Given the description of an element on the screen output the (x, y) to click on. 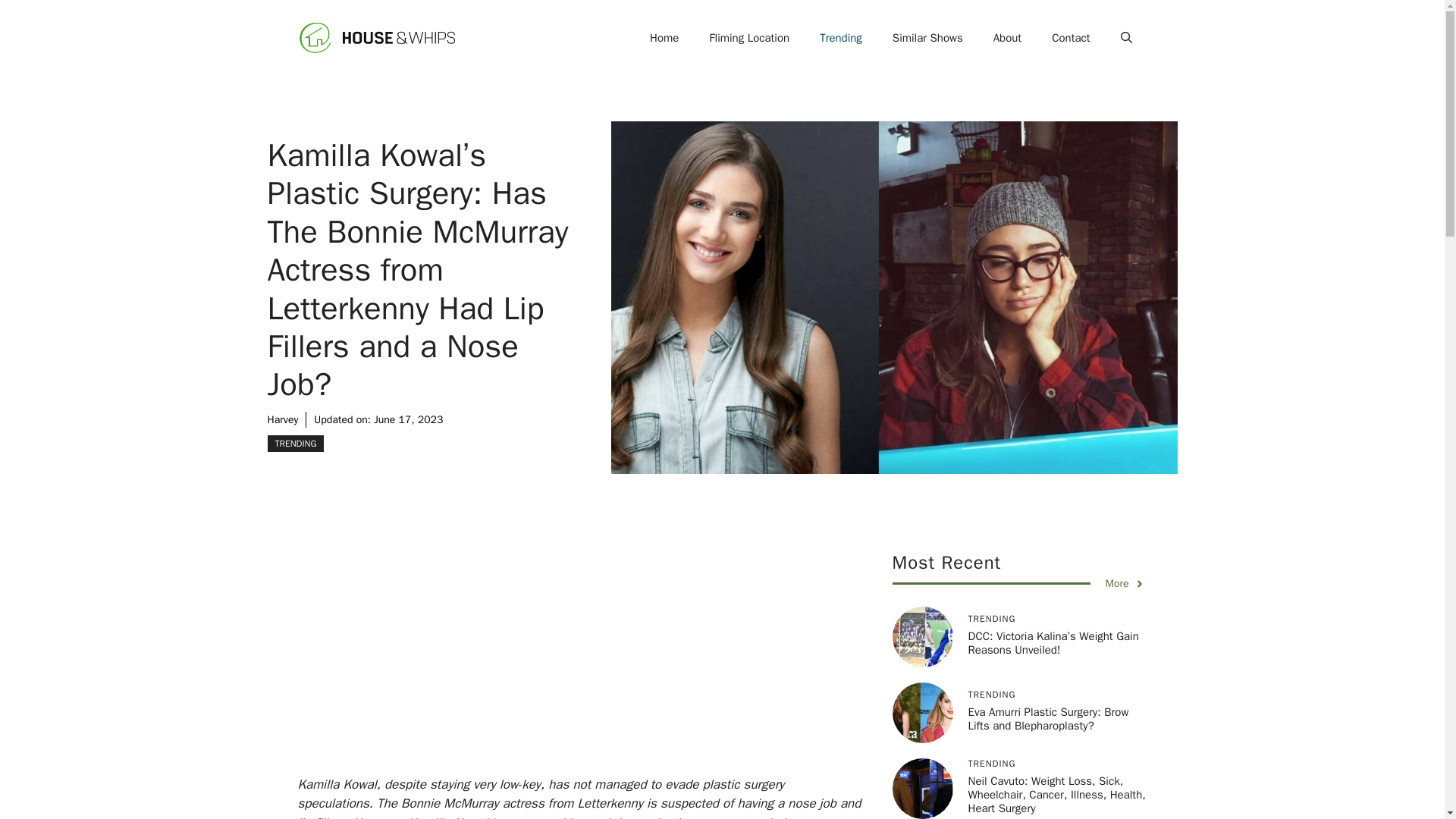
Harvey (282, 419)
Contact (1070, 37)
Advertisement (600, 662)
Fliming Location (749, 37)
About (1007, 37)
Home (664, 37)
Trending (841, 37)
Similar Shows (927, 37)
More (1124, 583)
Eva Amurri Plastic Surgery: Brow Lifts and Blepharoplasty? (1048, 718)
